Given the description of an element on the screen output the (x, y) to click on. 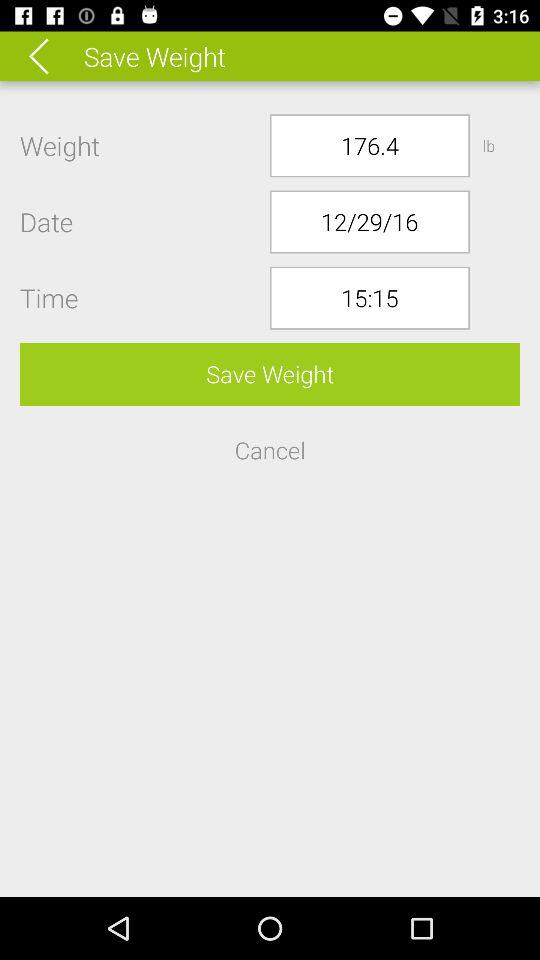
turn off button above the save weight button (369, 297)
